Given the description of an element on the screen output the (x, y) to click on. 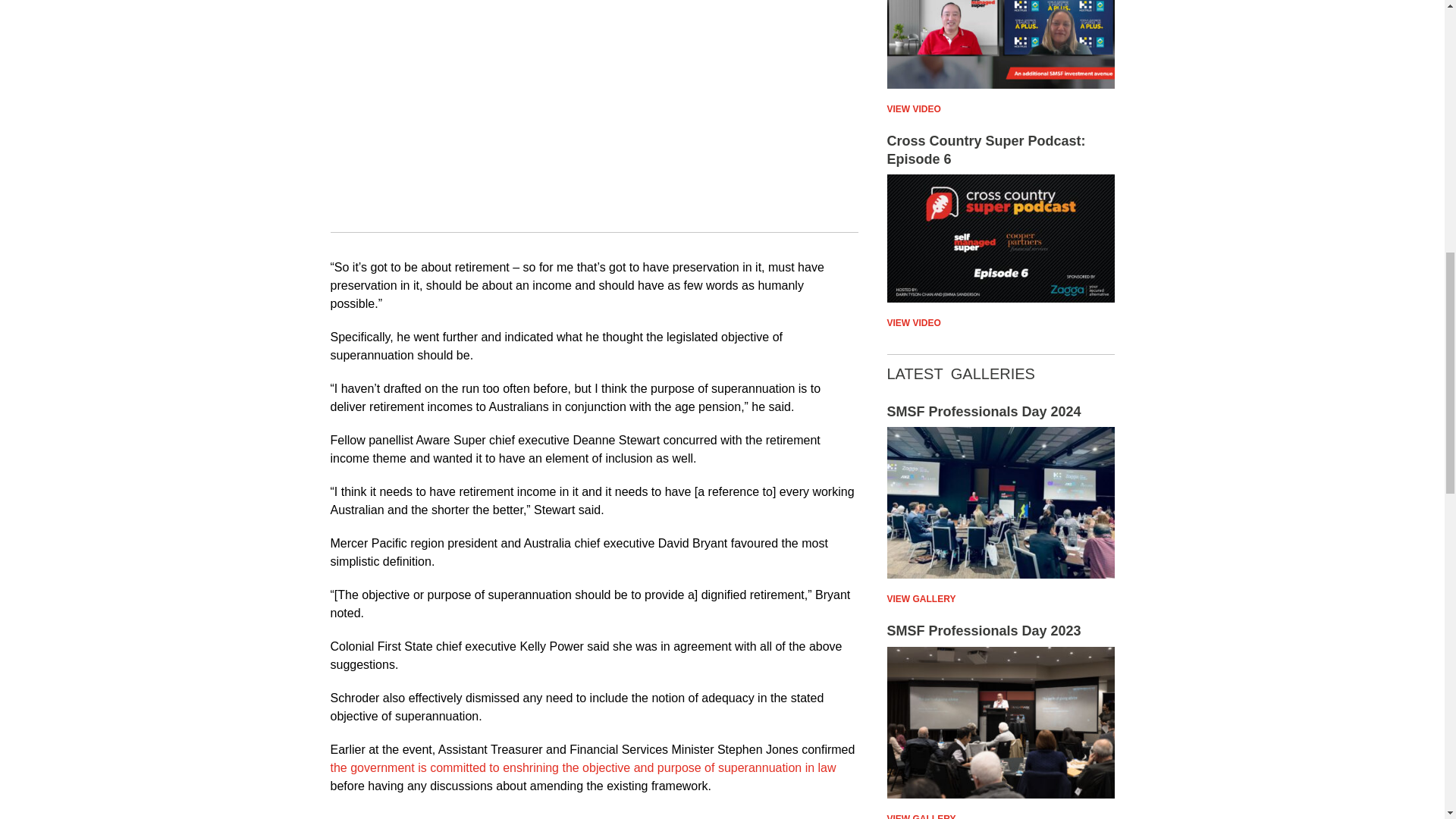
3rd party ad content (593, 111)
